Given the description of an element on the screen output the (x, y) to click on. 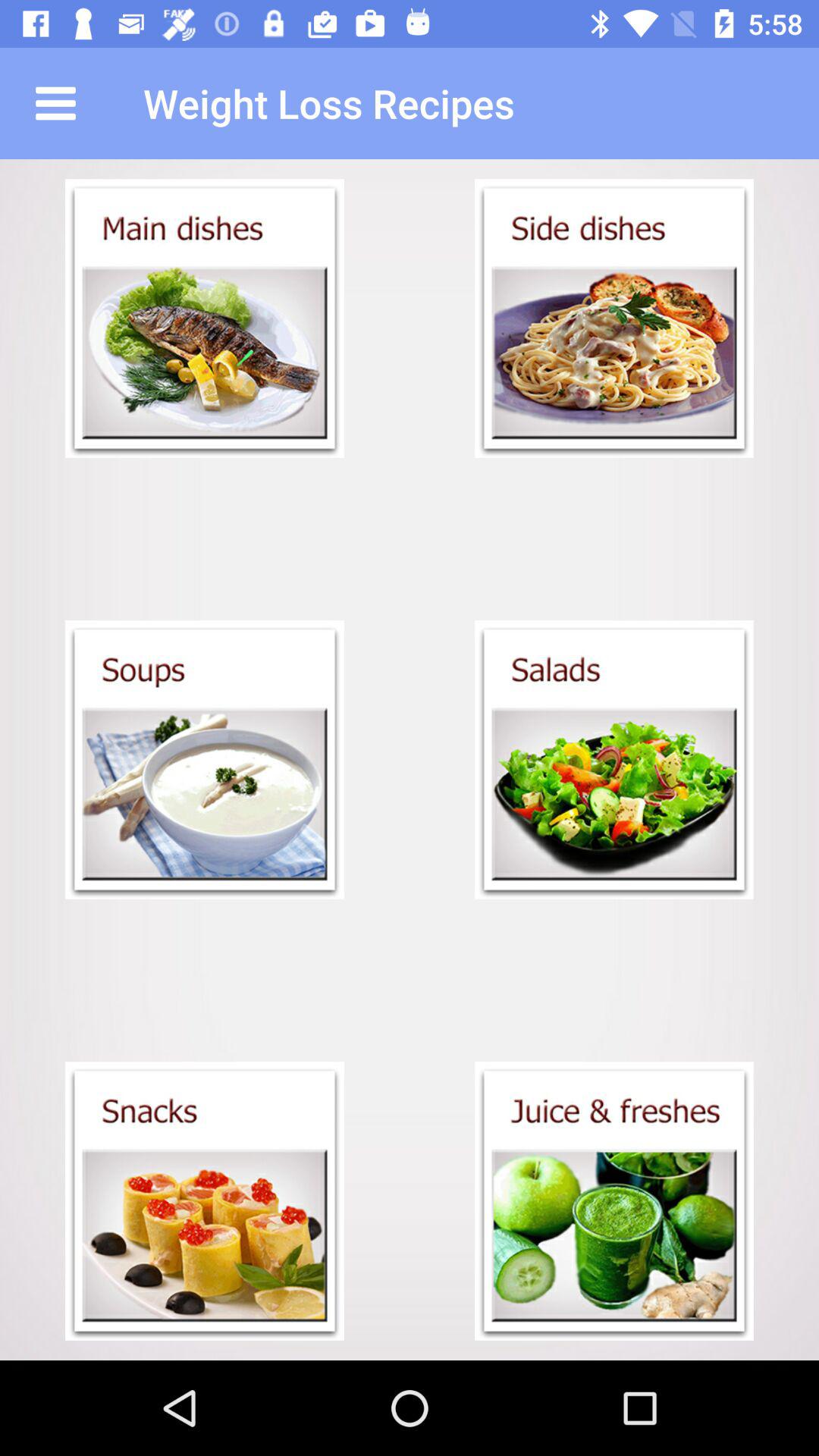
juice recipe option (614, 1200)
